Given the description of an element on the screen output the (x, y) to click on. 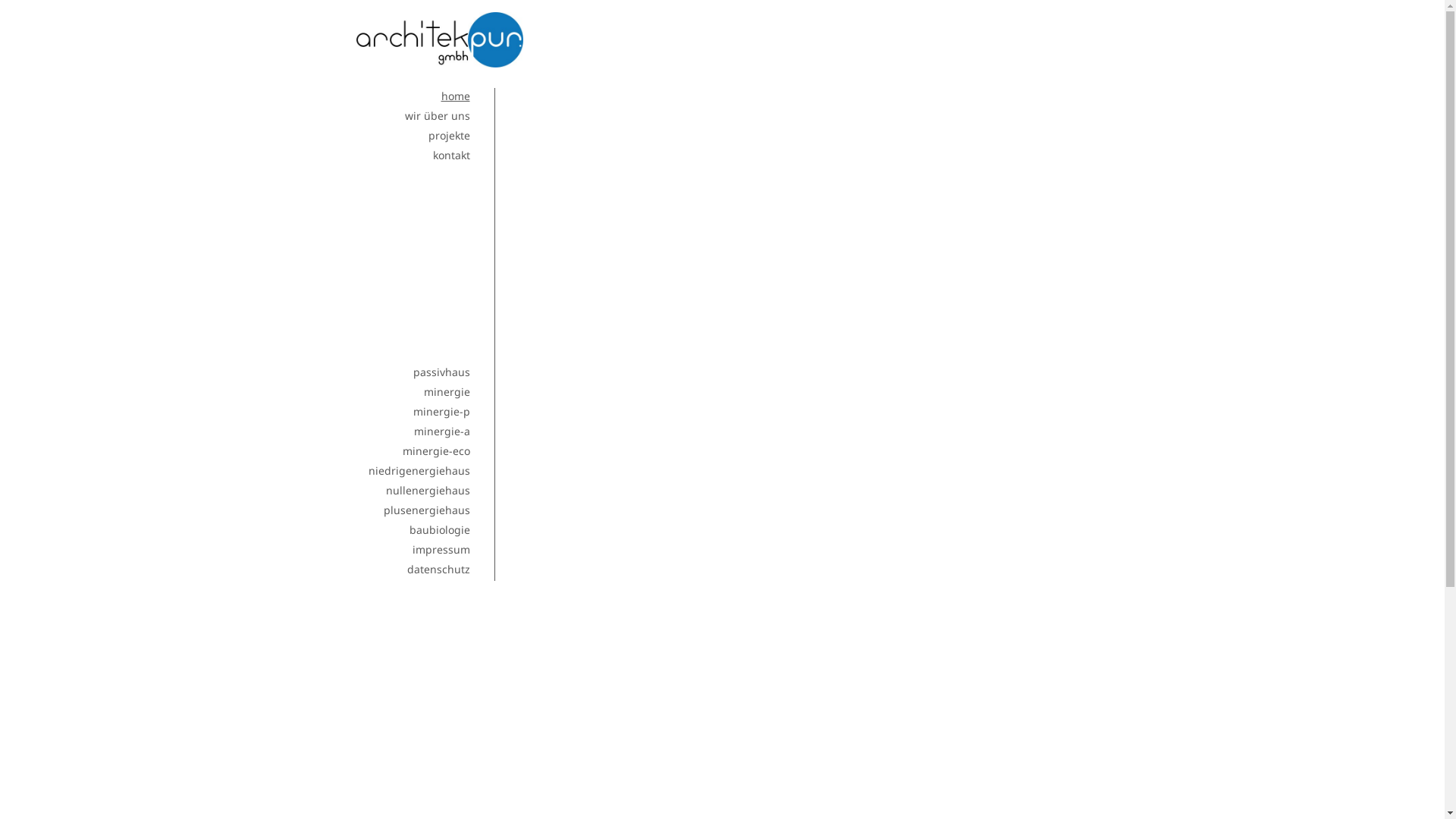
minergie-eco Element type: text (435, 450)
impressum Element type: text (441, 549)
plusenergiehaus Element type: text (426, 509)
home Element type: text (455, 95)
baubiologie Element type: text (439, 529)
datenschutz Element type: text (437, 568)
niedrigenergiehaus Element type: text (419, 470)
kontakt Element type: text (450, 154)
minergie-p Element type: text (440, 411)
minergie-a Element type: text (442, 430)
minergie Element type: text (446, 391)
passivhaus Element type: text (440, 371)
projekte Element type: text (448, 135)
nullenergiehaus Element type: text (427, 490)
